Given the description of an element on the screen output the (x, y) to click on. 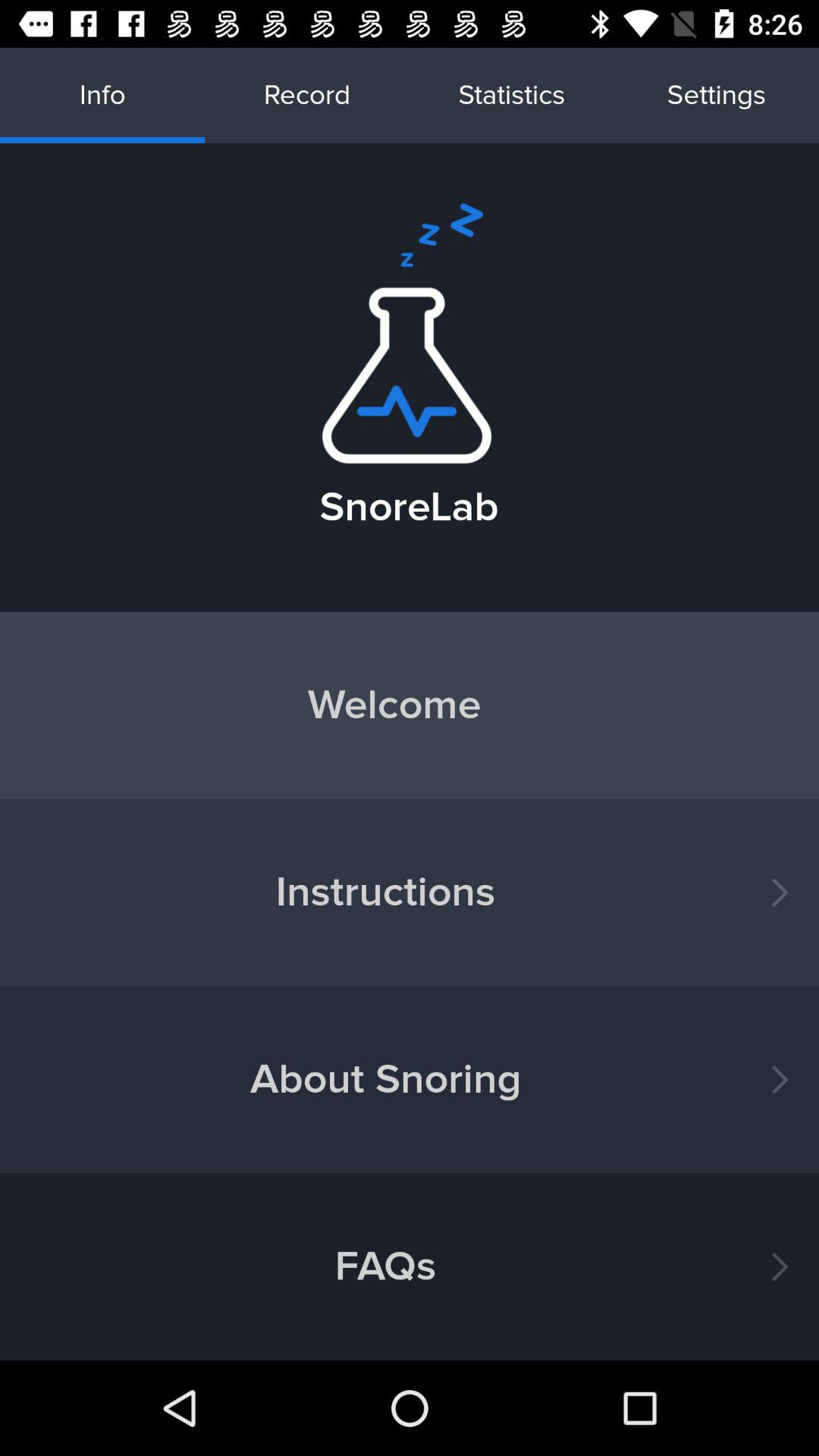
scroll until faqs button (409, 1266)
